Given the description of an element on the screen output the (x, y) to click on. 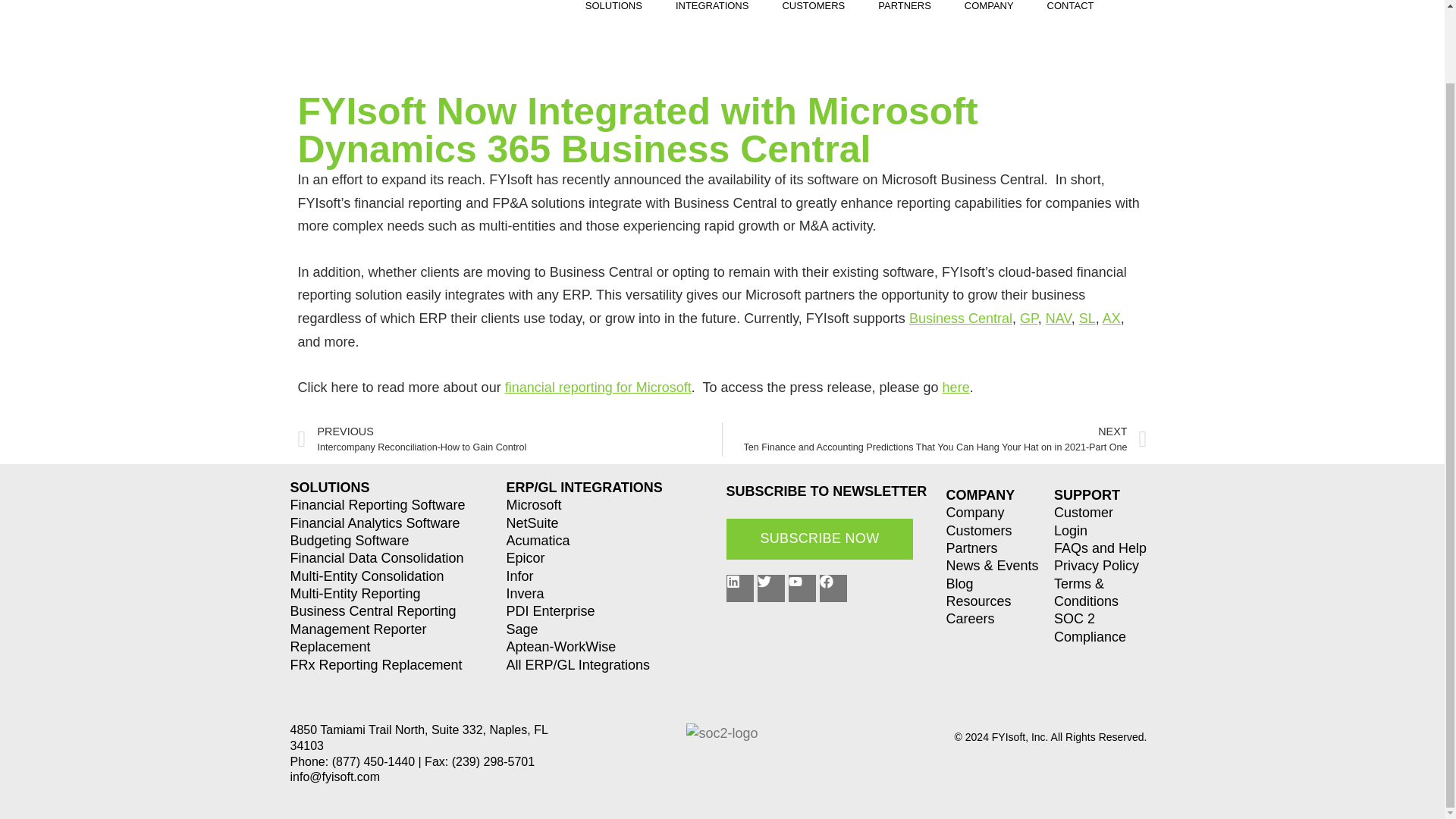
CONTACT (1069, 12)
soc2-logo (721, 733)
COMPANY (989, 12)
CUSTOMERS (812, 12)
SOLUTIONS (613, 12)
PARTNERS (903, 12)
INTEGRATIONS (711, 12)
